Given the description of an element on the screen output the (x, y) to click on. 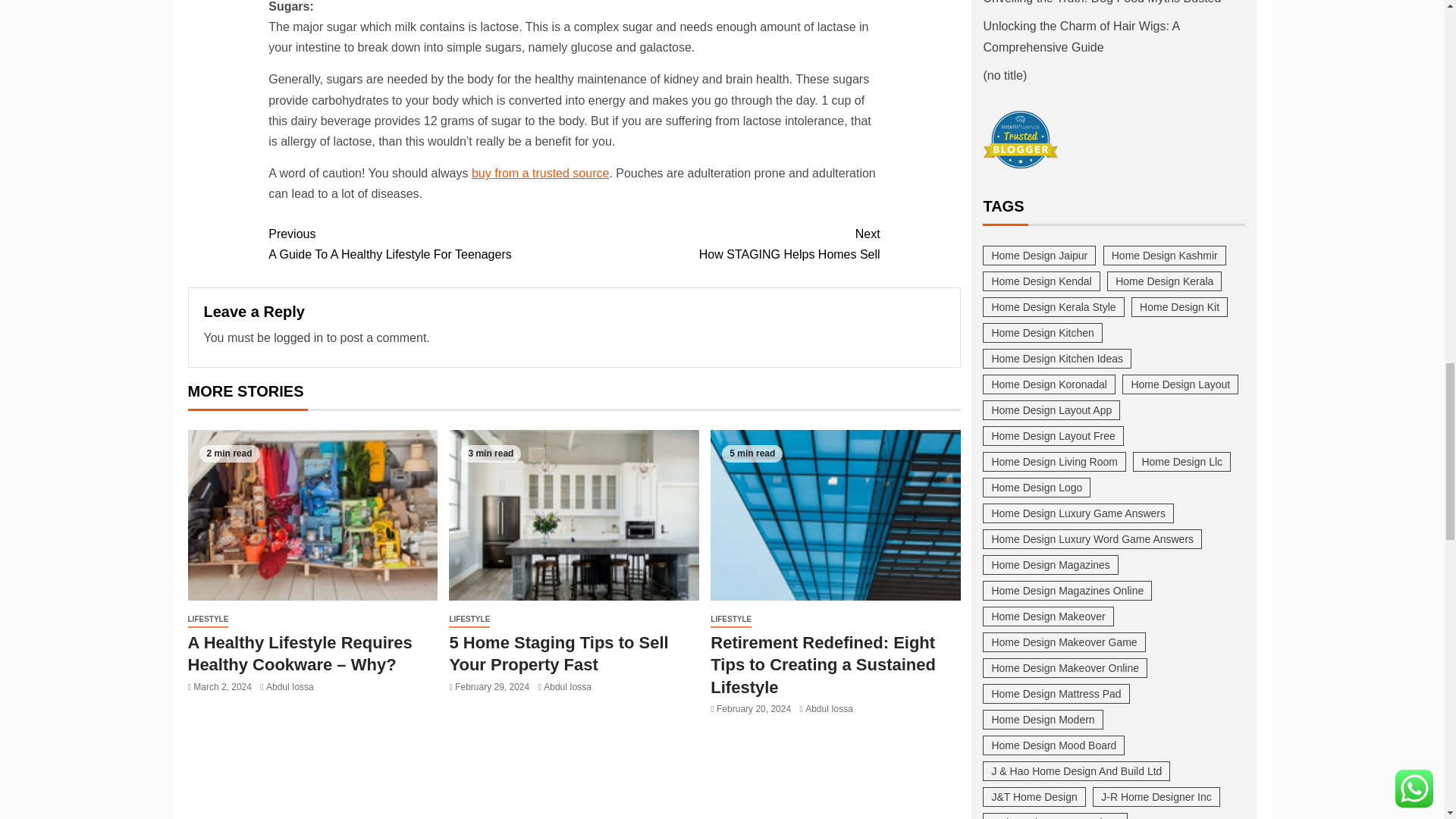
LIFESTYLE (207, 619)
logged in (420, 243)
5 Home Staging Tips to Sell Your Property Fast (298, 337)
buy from a trusted source (726, 243)
